Given the description of an element on the screen output the (x, y) to click on. 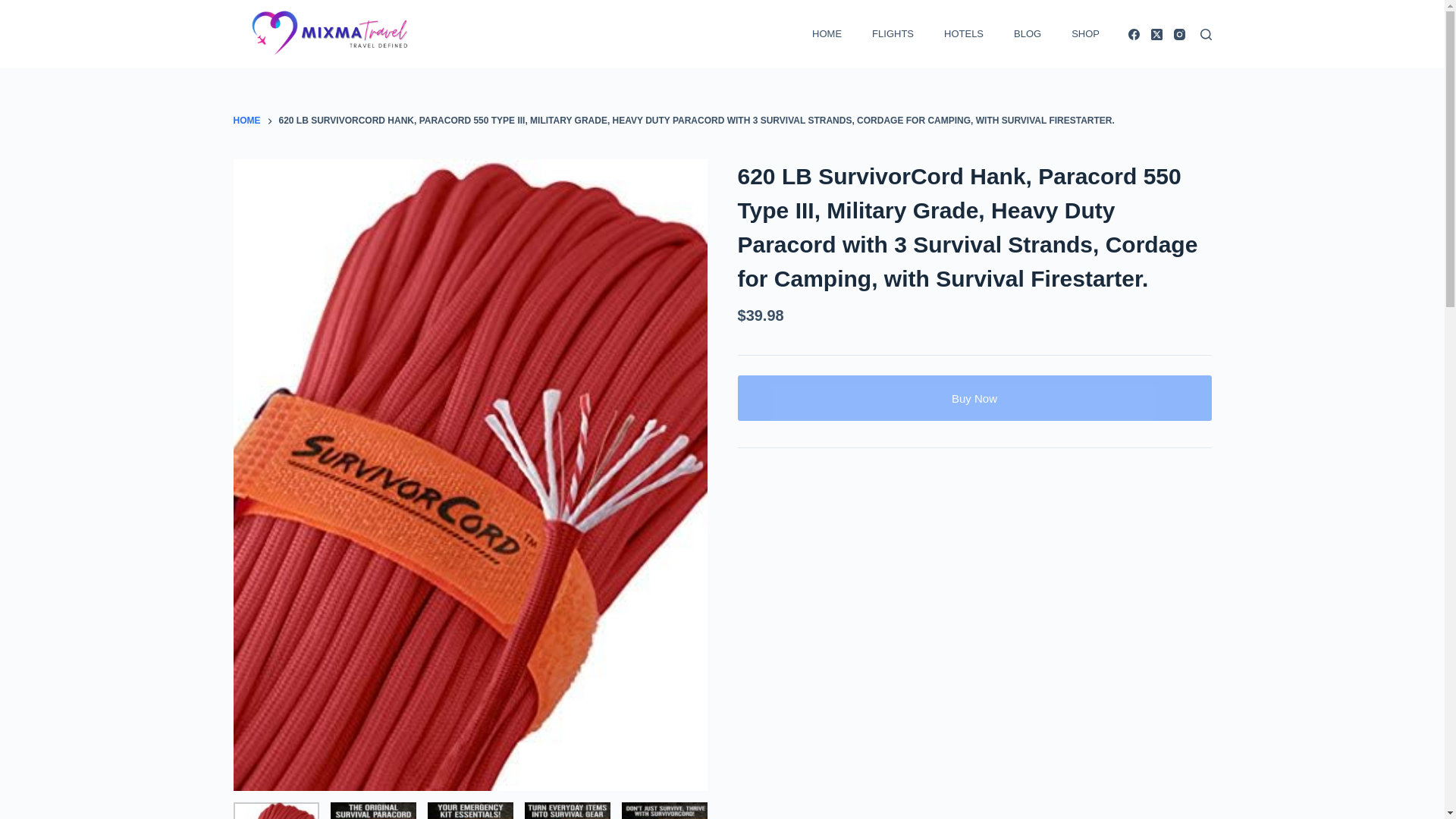
Skip to content (15, 7)
Buy Now (973, 397)
FLIGHTS (891, 33)
HOME (246, 120)
HOTELS (962, 33)
